Given the description of an element on the screen output the (x, y) to click on. 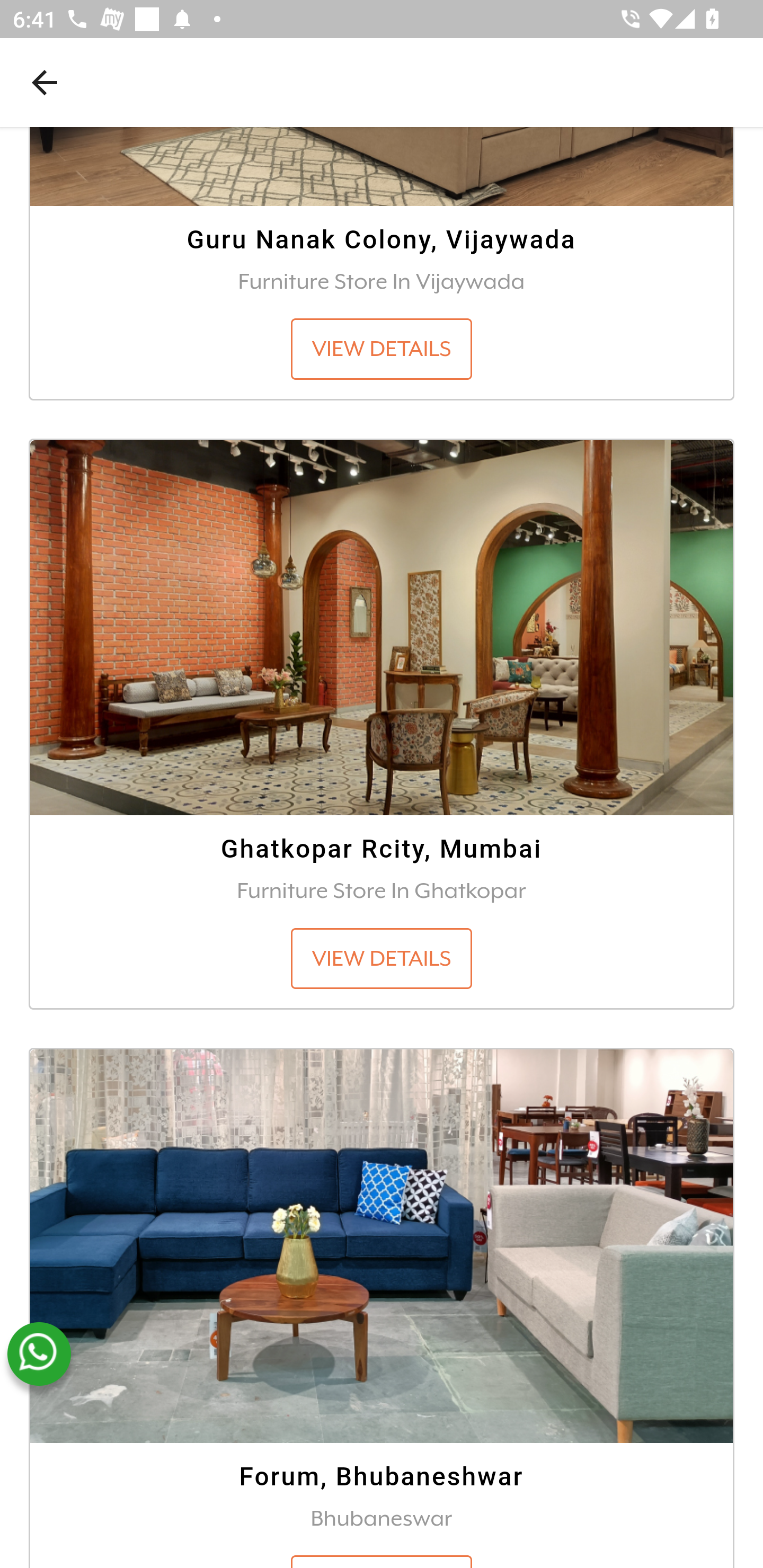
Navigate up (44, 82)
VIEW DETAILS (381, 349)
VIEW DETAILS (381, 958)
whatsapp (38, 1354)
